Given the description of an element on the screen output the (x, y) to click on. 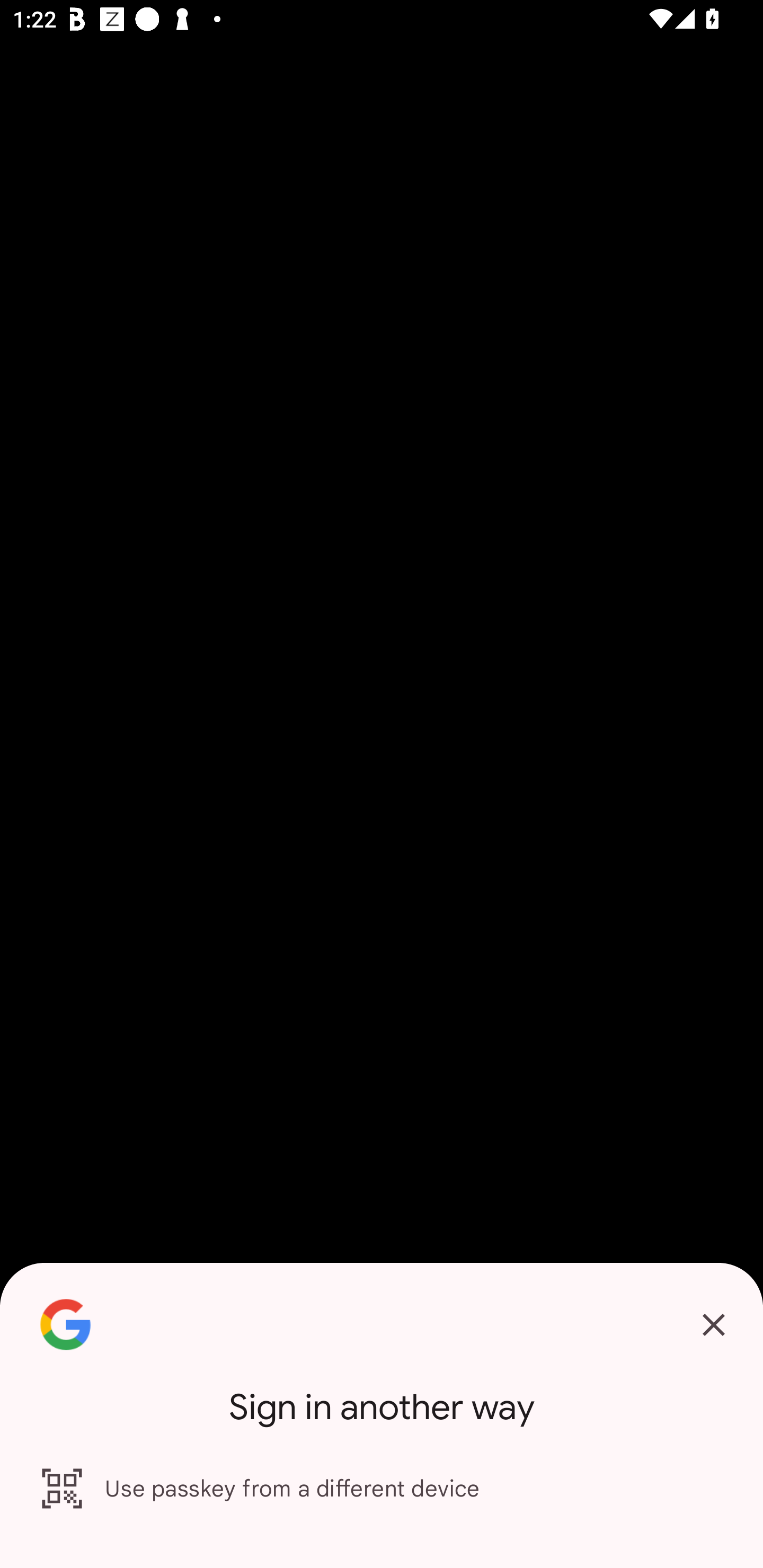
Cancel (713, 1324)
Use passkey from a different device (381, 1488)
